Given the description of an element on the screen output the (x, y) to click on. 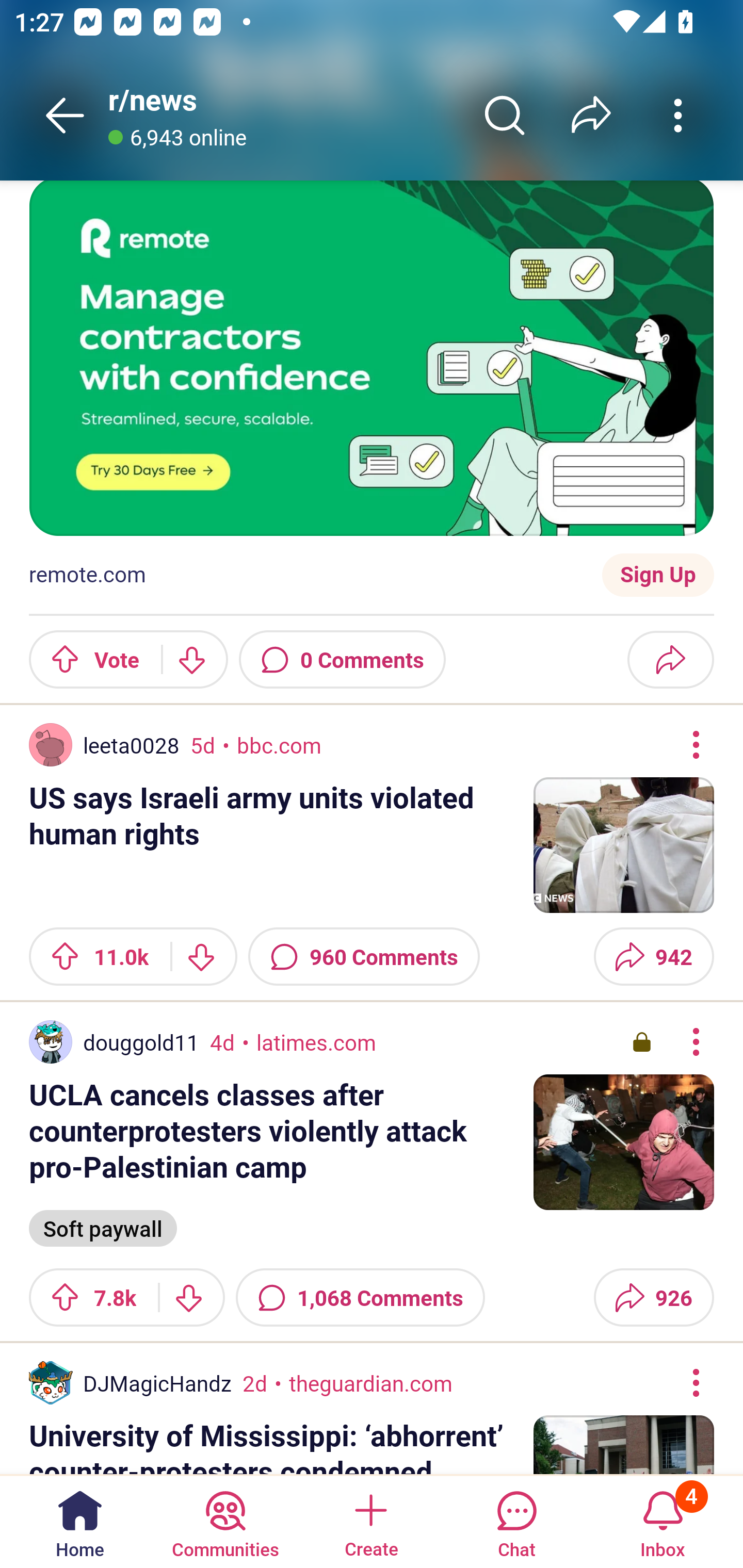
Back (64, 115)
Search r/﻿news (504, 115)
Share r/﻿news (591, 115)
More community actions (677, 115)
Soft paywall (102, 1226)
Home (80, 1520)
Communities (225, 1520)
Create a post Create (370, 1520)
Chat (516, 1520)
Inbox, has 4 notifications 4 Inbox (662, 1520)
